Given the description of an element on the screen output the (x, y) to click on. 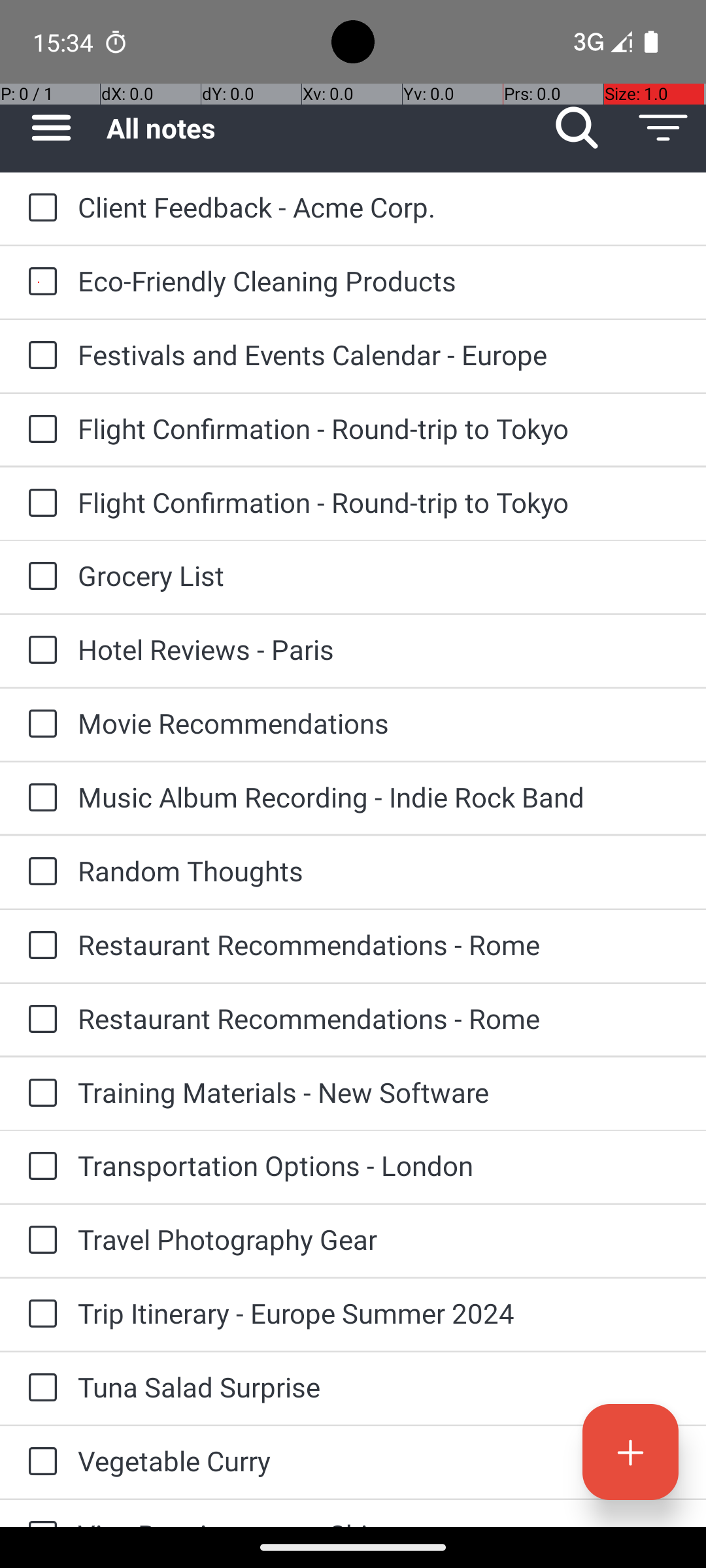
to-do: Client Feedback - Acme Corp. Element type: android.widget.CheckBox (38, 208)
Client Feedback - Acme Corp. Element type: android.widget.TextView (378, 206)
to-do: Eco-Friendly Cleaning Products Element type: android.widget.CheckBox (38, 282)
to-do: Festivals and Events Calendar - Europe Element type: android.widget.CheckBox (38, 356)
Festivals and Events Calendar - Europe Element type: android.widget.TextView (378, 354)
to-do: Flight Confirmation - Round-trip to Tokyo Element type: android.widget.CheckBox (38, 429)
to-do: Hotel Reviews - Paris Element type: android.widget.CheckBox (38, 650)
Hotel Reviews - Paris Element type: android.widget.TextView (378, 648)
to-do: Movie Recommendations Element type: android.widget.CheckBox (38, 724)
Movie Recommendations Element type: android.widget.TextView (378, 722)
to-do: Random Thoughts Element type: android.widget.CheckBox (38, 872)
Random Thoughts Element type: android.widget.TextView (378, 870)
to-do: Training Materials - New Software Element type: android.widget.CheckBox (38, 1093)
Training Materials - New Software Element type: android.widget.TextView (378, 1091)
to-do: Transportation Options - London Element type: android.widget.CheckBox (38, 1166)
Transportation Options - London Element type: android.widget.TextView (378, 1164)
to-do: Travel Photography Gear Element type: android.widget.CheckBox (38, 1240)
Travel Photography Gear Element type: android.widget.TextView (378, 1238)
to-do: Trip Itinerary - Europe Summer 2024 Element type: android.widget.CheckBox (38, 1314)
Trip Itinerary - Europe Summer 2024 Element type: android.widget.TextView (378, 1312)
to-do: Tuna Salad Surprise Element type: android.widget.CheckBox (38, 1388)
Tuna Salad Surprise Element type: android.widget.TextView (378, 1386)
to-do: Vegetable Curry Element type: android.widget.CheckBox (38, 1462)
Vegetable Curry Element type: android.widget.TextView (378, 1460)
to-do: Visa Requirements - China Element type: android.widget.CheckBox (38, 1513)
Visa Requirements - China Element type: android.widget.TextView (378, 1520)
